Given the description of an element on the screen output the (x, y) to click on. 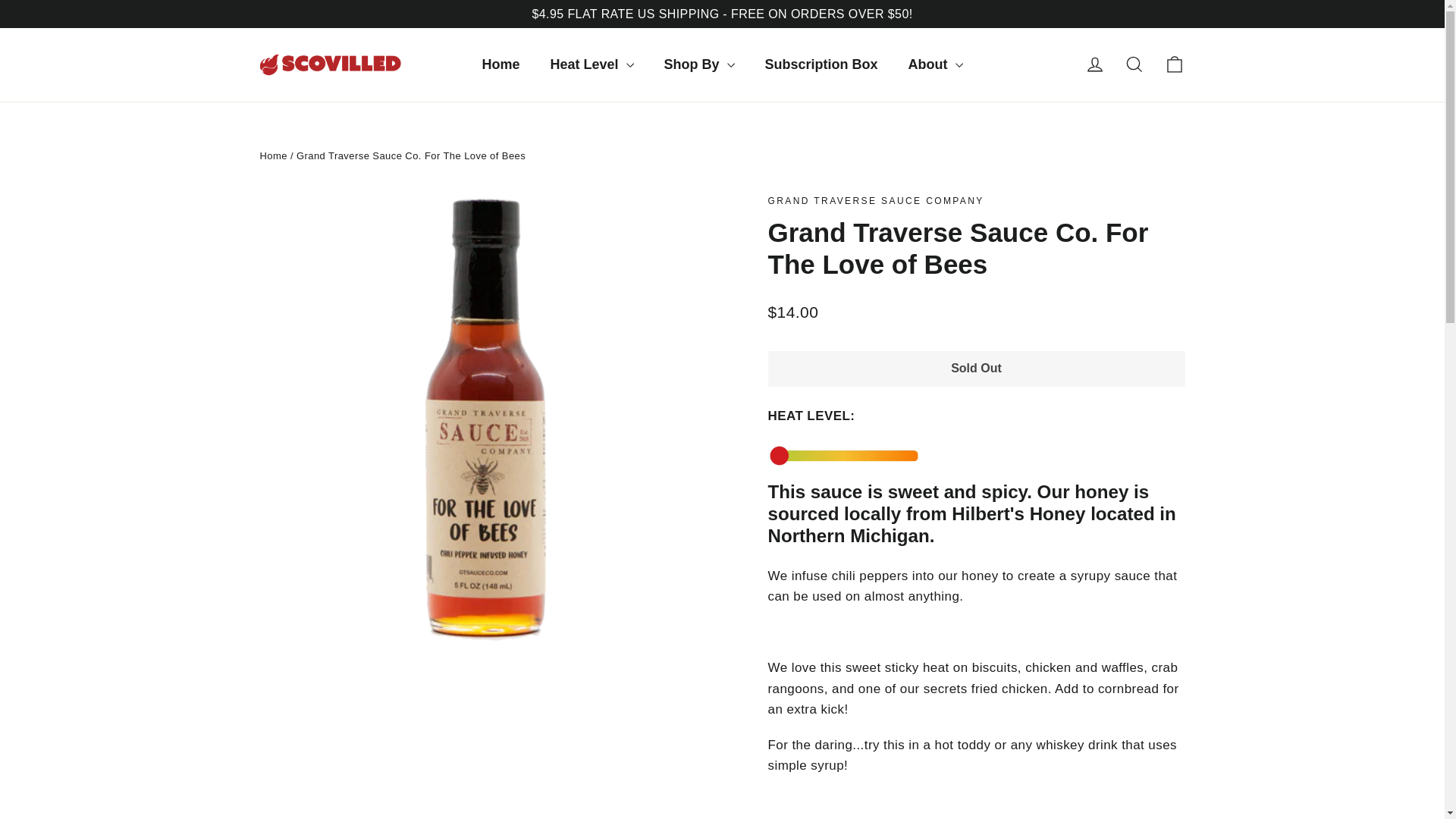
icon-bag-minimal (1174, 64)
Back to the frontpage (272, 155)
icon-search (1134, 64)
account (1094, 64)
